Given the description of an element on the screen output the (x, y) to click on. 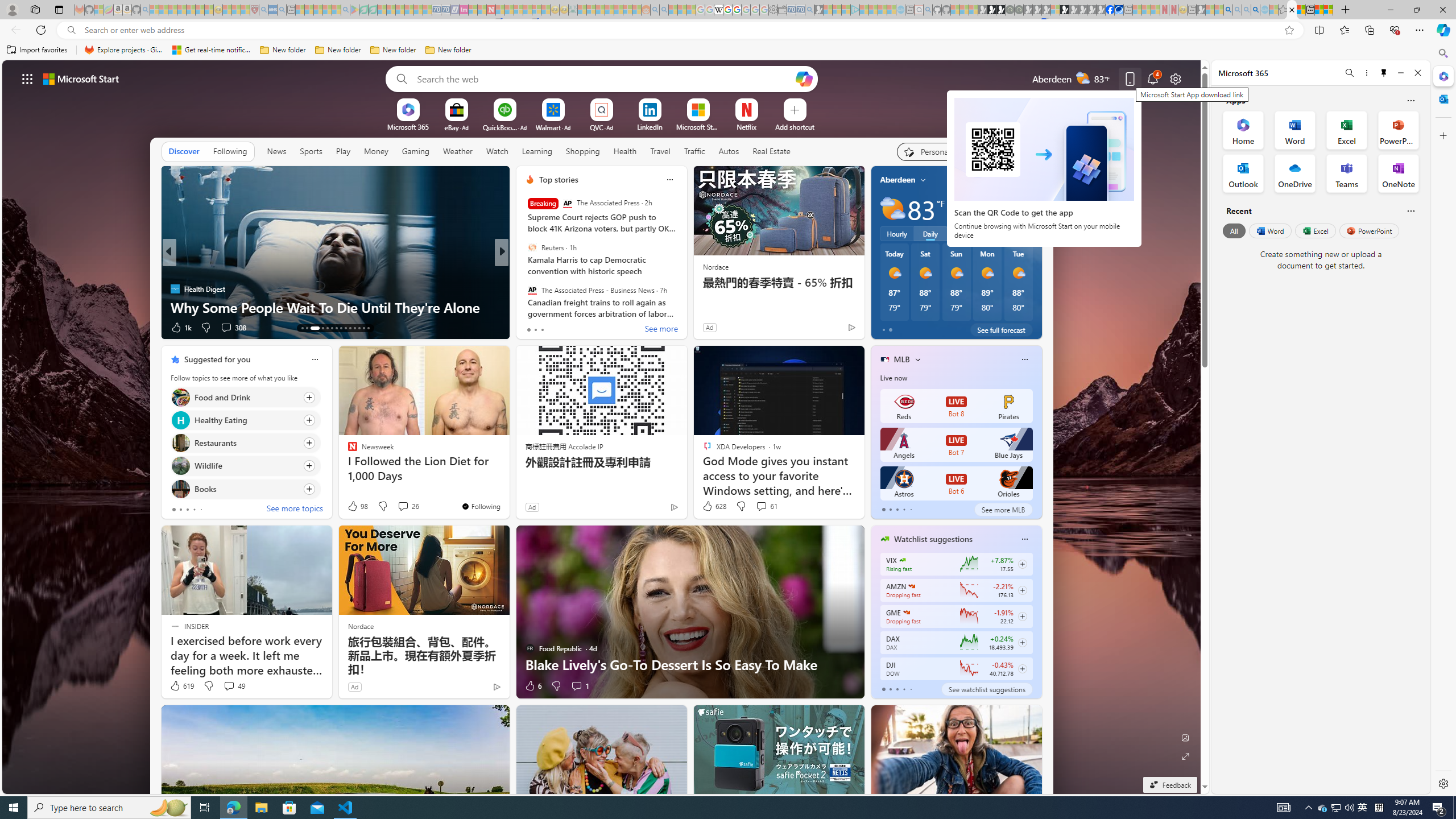
Partly sunny (892, 208)
54 Like (530, 327)
Favorites - Sleeping (1283, 9)
Feed settings (1005, 151)
Bing AI - Search (1227, 9)
